Given the description of an element on the screen output the (x, y) to click on. 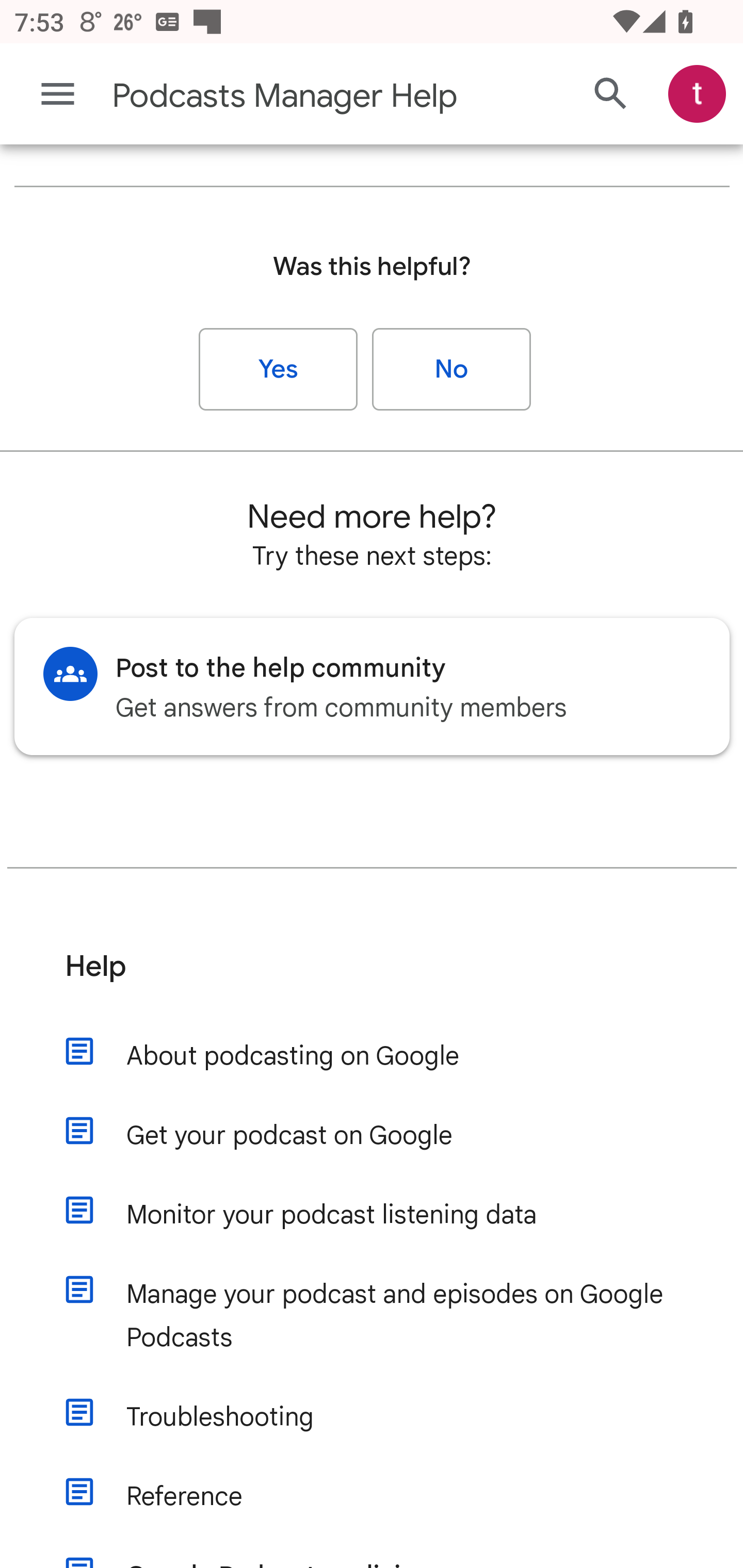
Main menu (58, 93)
Podcasts Manager Help (292, 96)
Search Help Center (611, 94)
Yes (Was this helpful?) (278, 370)
No (Was this helpful?) (451, 370)
Help Help Help (372, 980)
About podcasting on Google (390, 1056)
Get your podcast on Google (390, 1136)
Monitor your podcast listening data (390, 1214)
Troubleshooting (390, 1417)
Reference (390, 1497)
